Given the description of an element on the screen output the (x, y) to click on. 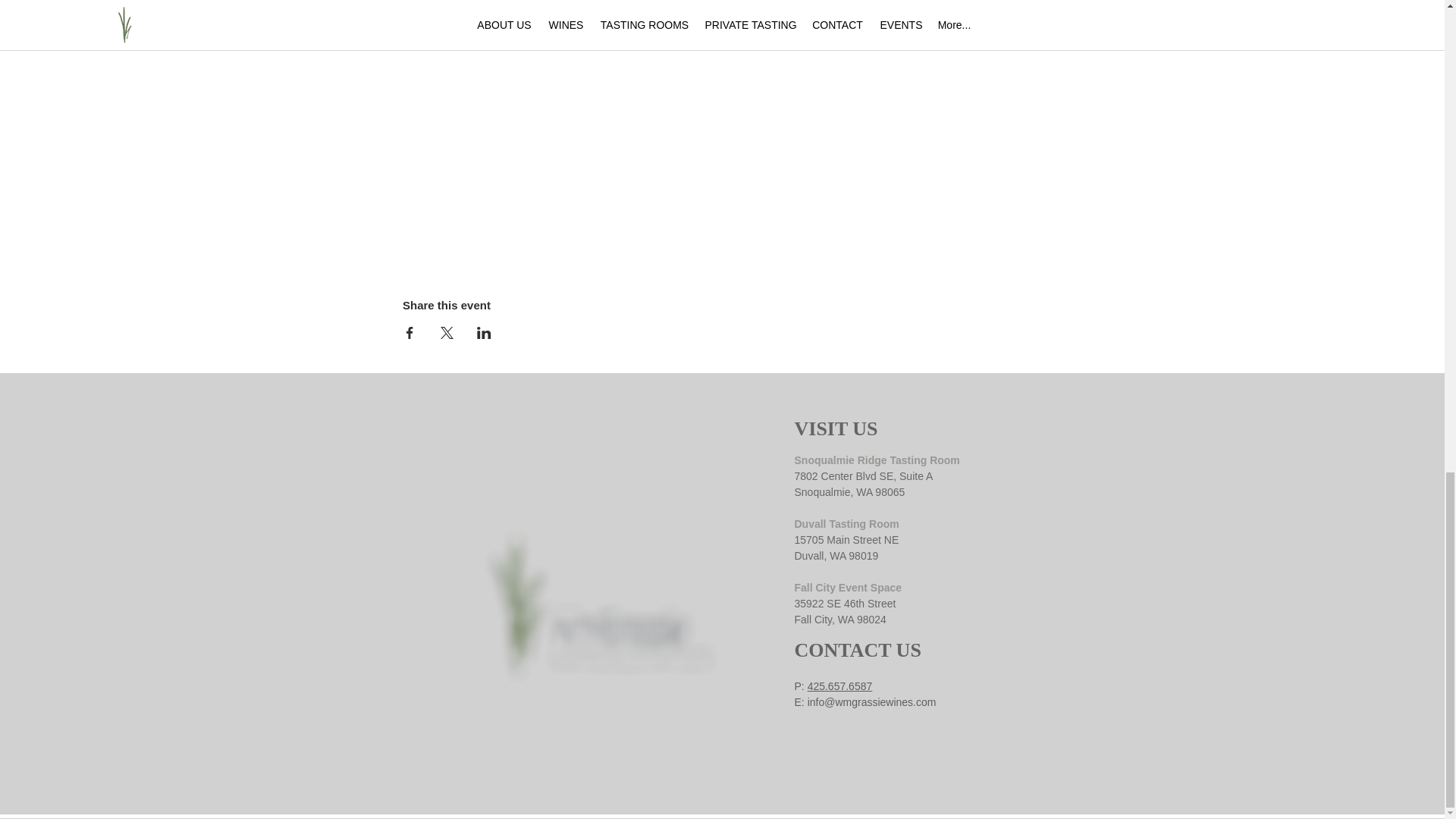
425.657.6587 (840, 686)
